Given the description of an element on the screen output the (x, y) to click on. 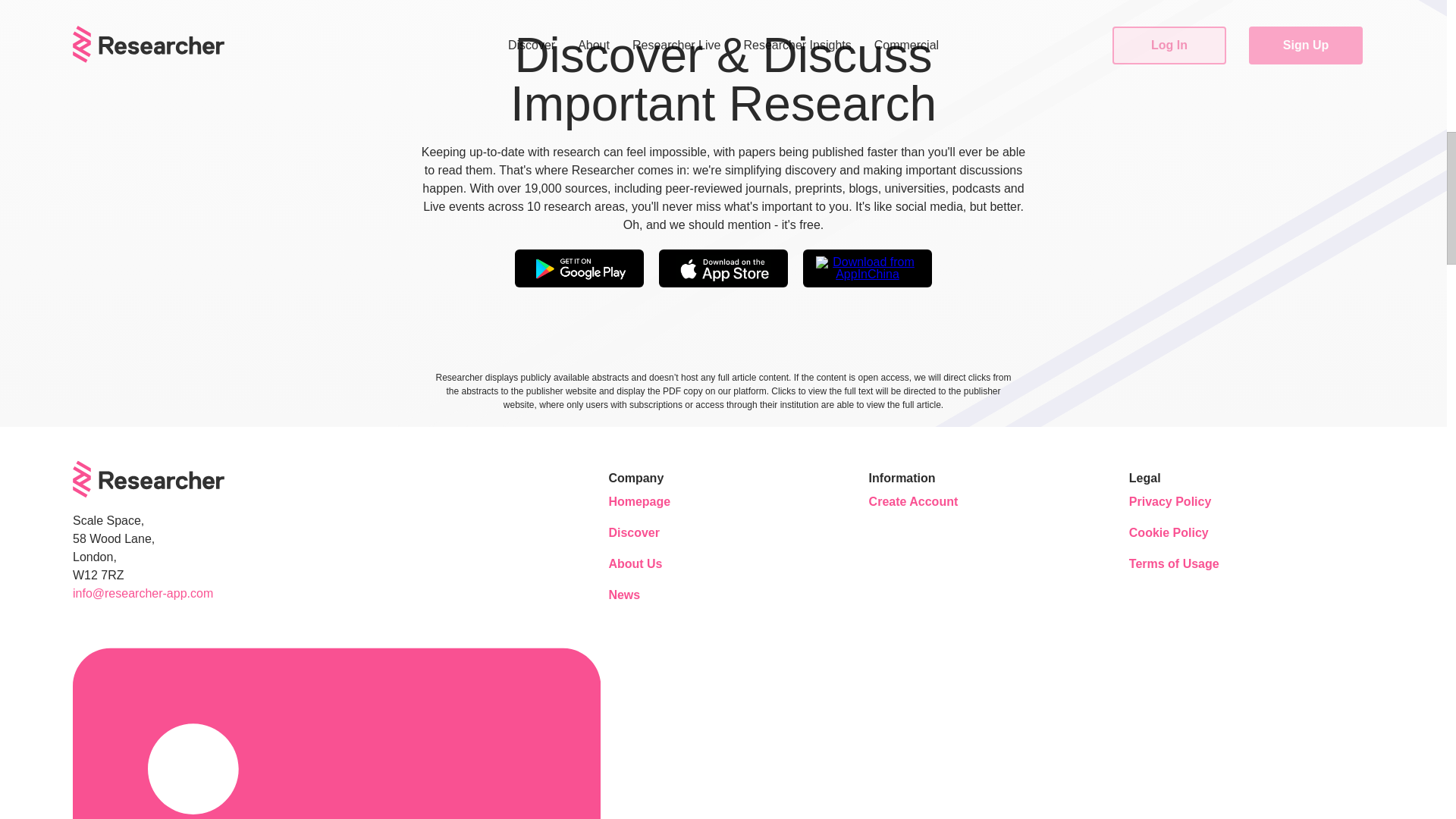
Discover (653, 533)
Privacy Policy (1173, 501)
Terms of Usage (1173, 564)
Create Account (914, 501)
Homepage (653, 501)
News (653, 595)
About Us (653, 564)
Cookie Policy (1173, 533)
